Given the description of an element on the screen output the (x, y) to click on. 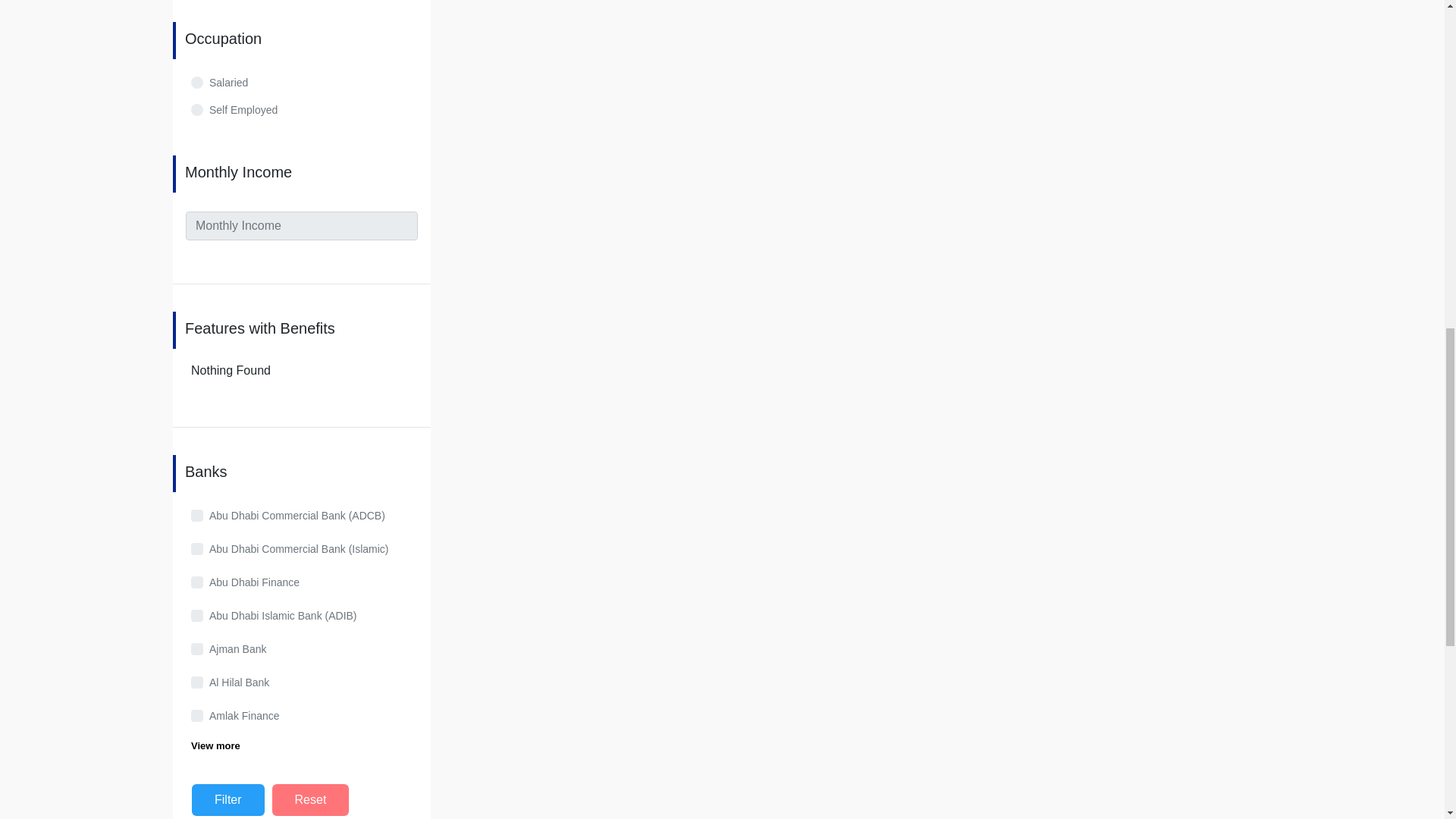
Reset (310, 799)
